Given the description of an element on the screen output the (x, y) to click on. 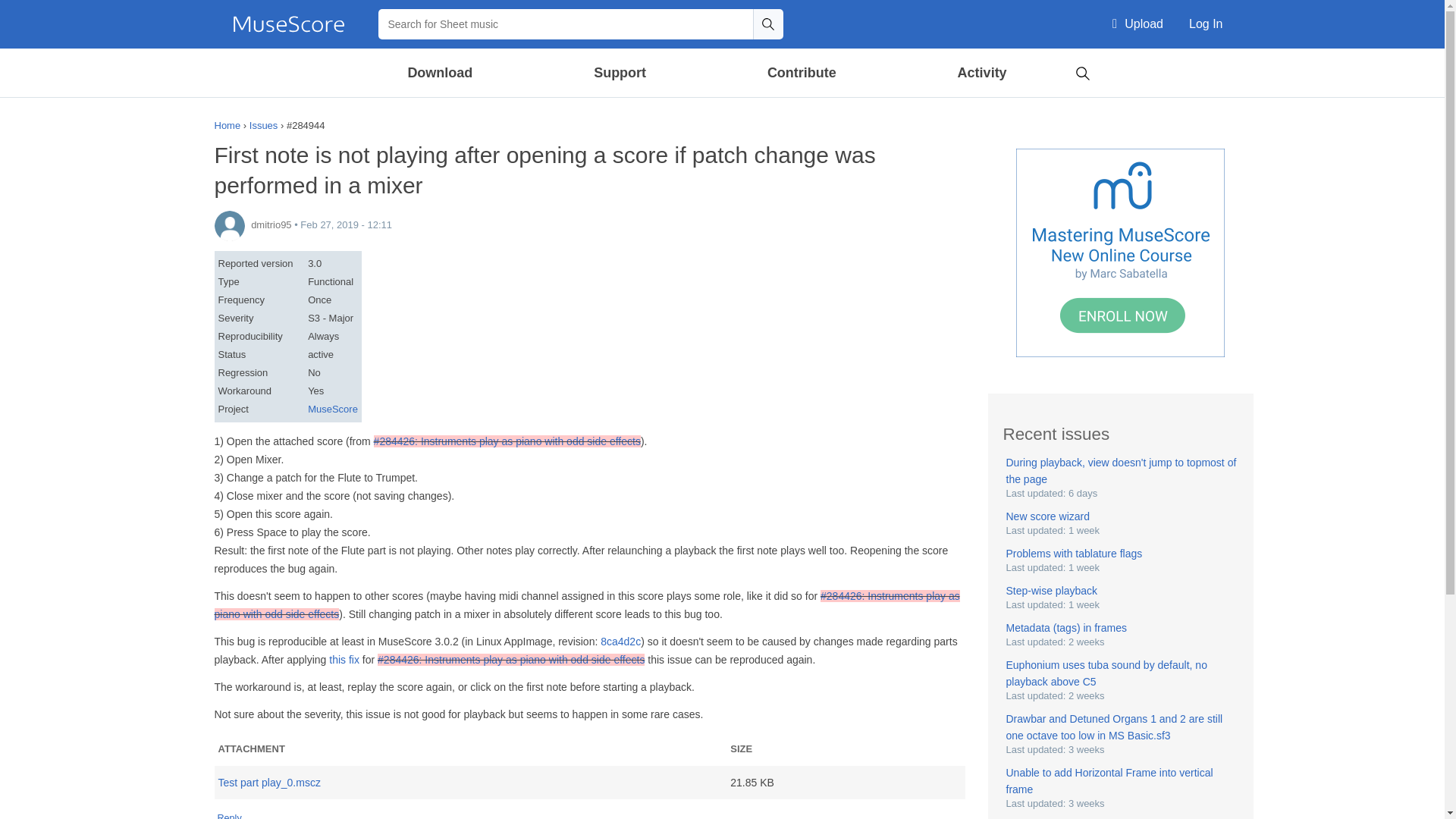
Search (767, 24)
Status: closed (511, 659)
Home (287, 23)
Search (1082, 71)
Status: closed (507, 440)
Log In (1205, 24)
dmitrio95 (229, 225)
Search (767, 24)
Activity (981, 72)
Support (619, 72)
